Given the description of an element on the screen output the (x, y) to click on. 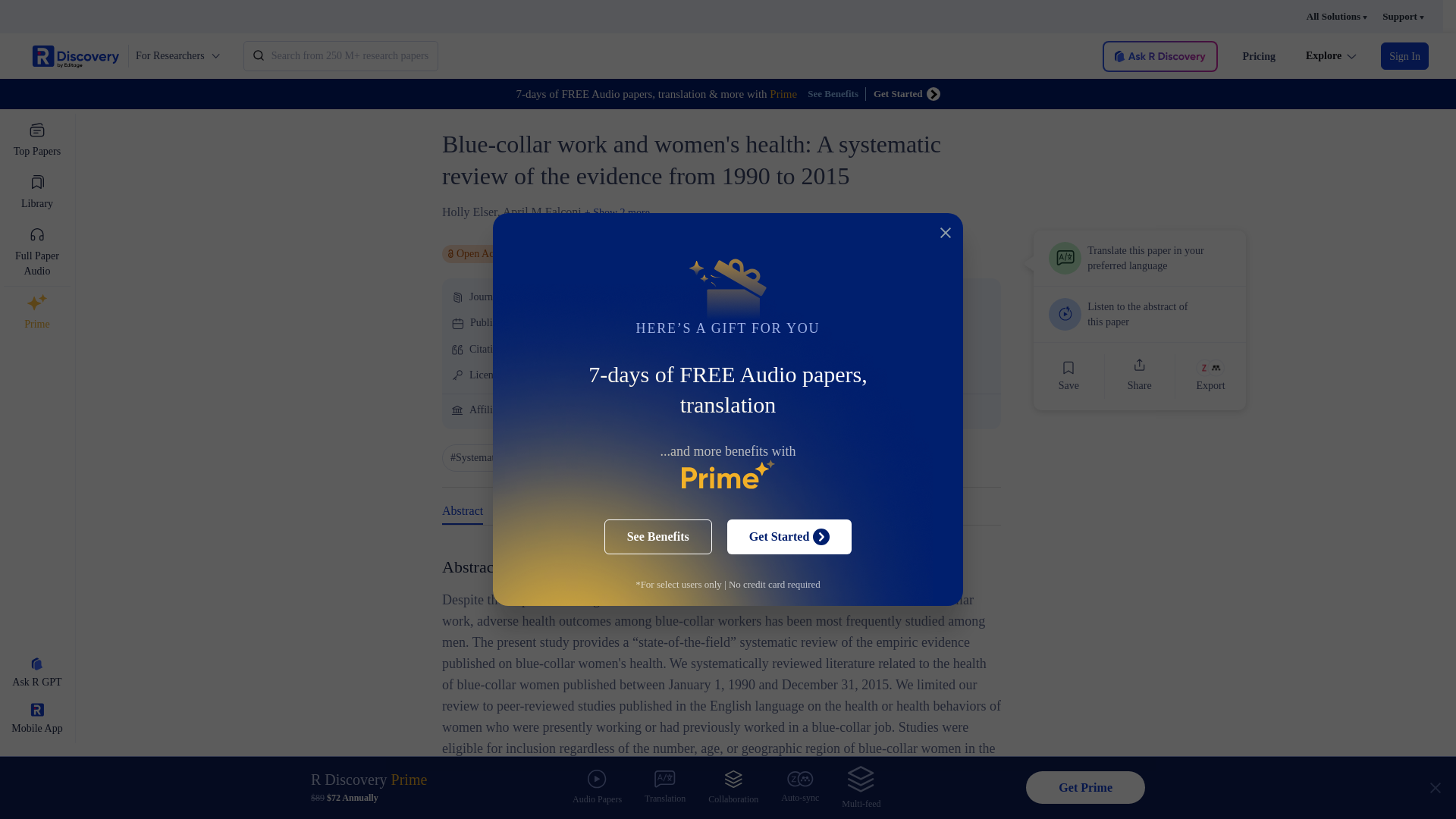
Listen to the abstract of this paper (1139, 314)
Get Prime (1085, 787)
SSM - population health (590, 296)
University of California, Berkeley (595, 408)
Prime (36, 312)
Pricing (1258, 56)
cc-by-nc-nd (554, 374)
See Benefits (837, 93)
Ask R GPT (36, 673)
Support (1402, 16)
Get Started (906, 93)
Translate this paper in your preferred language (1139, 257)
SSM - population health (590, 296)
23 (518, 348)
All Solutions (1336, 16)
